Given the description of an element on the screen output the (x, y) to click on. 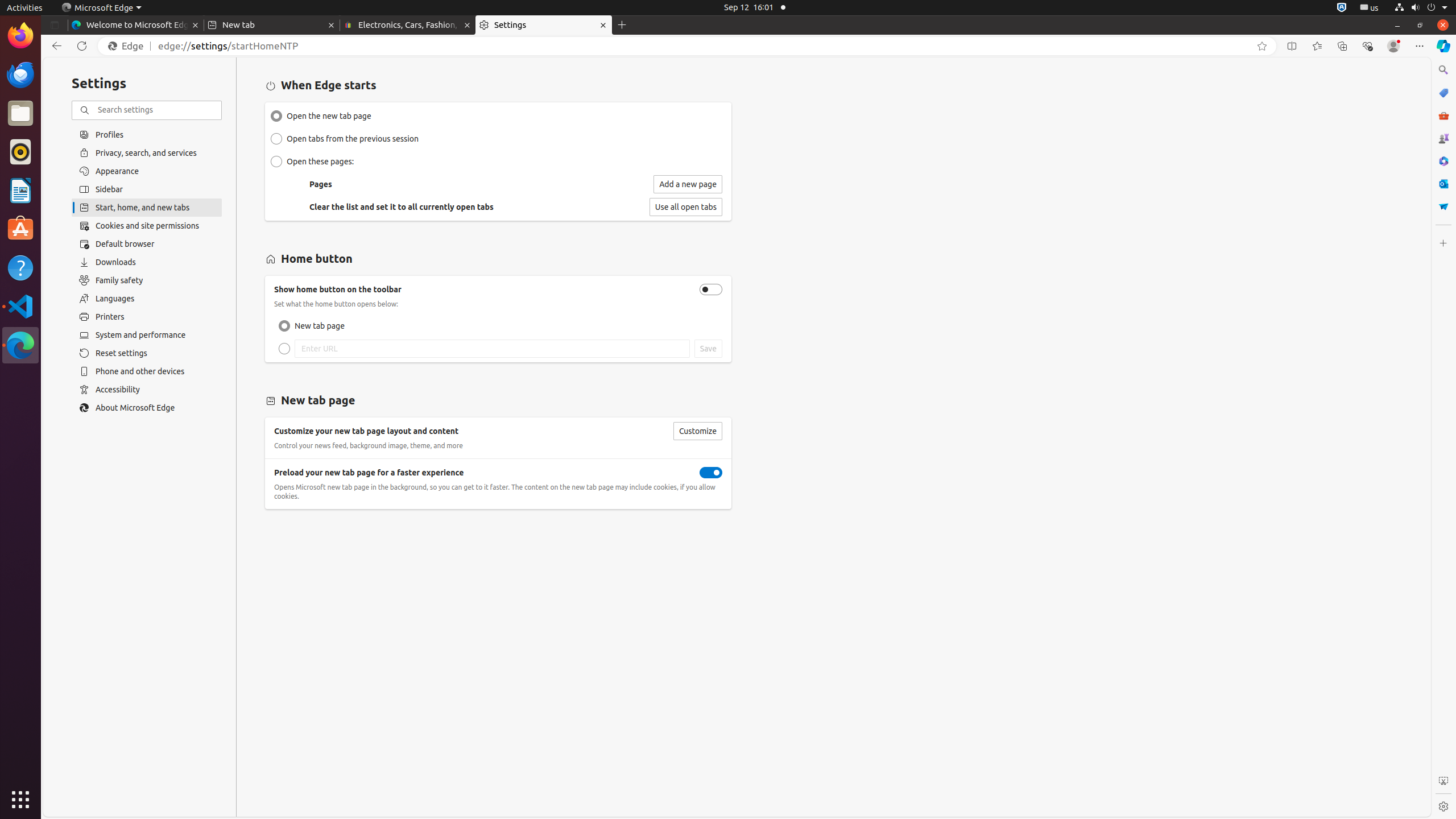
Collections Element type: push-button (1341, 45)
Firefox Web Browser Element type: push-button (20, 35)
Browser essentials Element type: push-button (1366, 45)
Back Element type: push-button (54, 45)
Screenshot Element type: push-button (1443, 780)
